Given the description of an element on the screen output the (x, y) to click on. 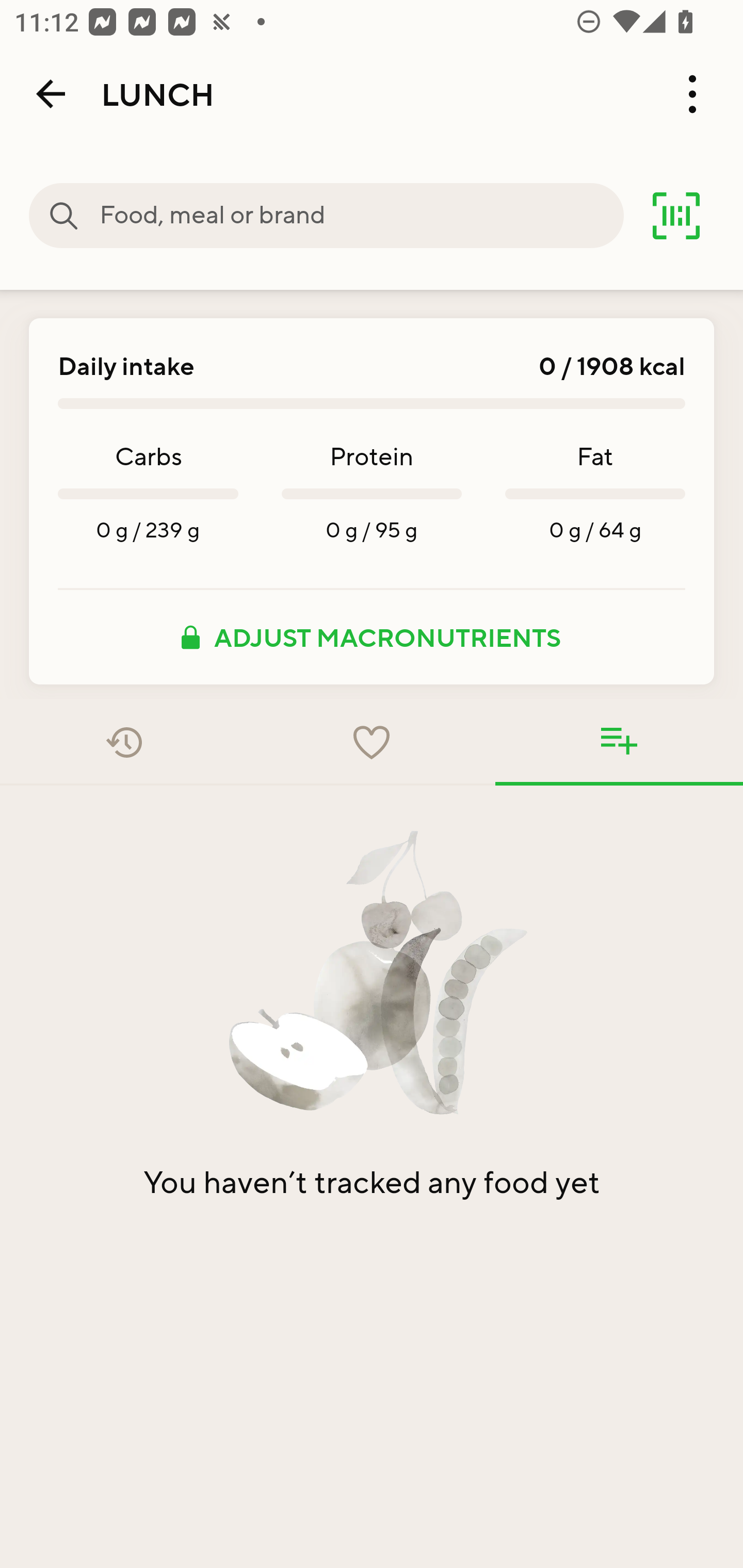
Back (50, 93)
Food, meal or brand (63, 215)
Food, meal or brand (361, 215)
ADJUST MACRONUTRIENTS (371, 637)
Recent (123, 742)
Favorites (371, 742)
